Given the description of an element on the screen output the (x, y) to click on. 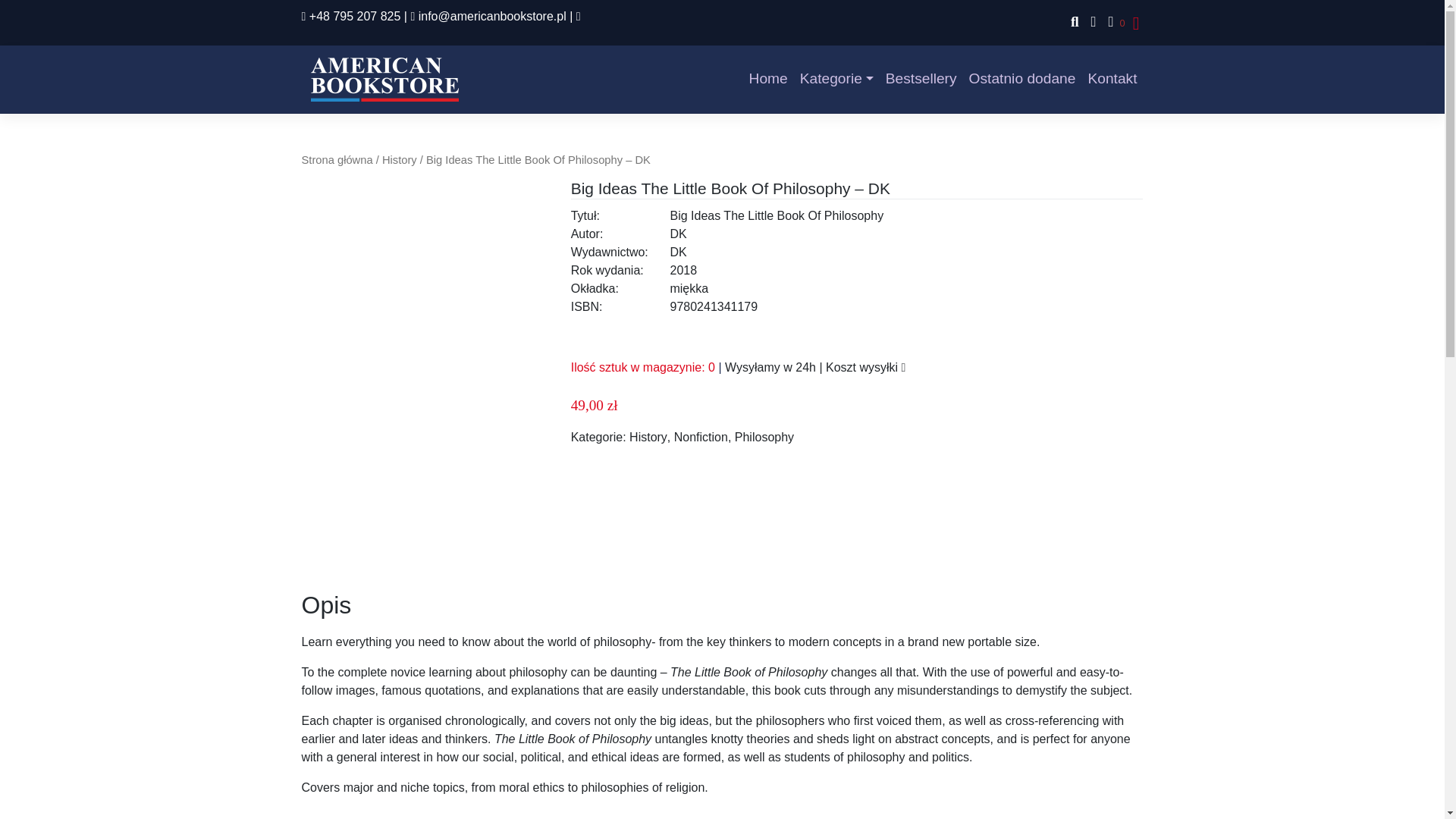
Kategorie (836, 79)
Kategorie (836, 79)
0 (1113, 22)
Home (767, 79)
Home (767, 79)
